Given the description of an element on the screen output the (x, y) to click on. 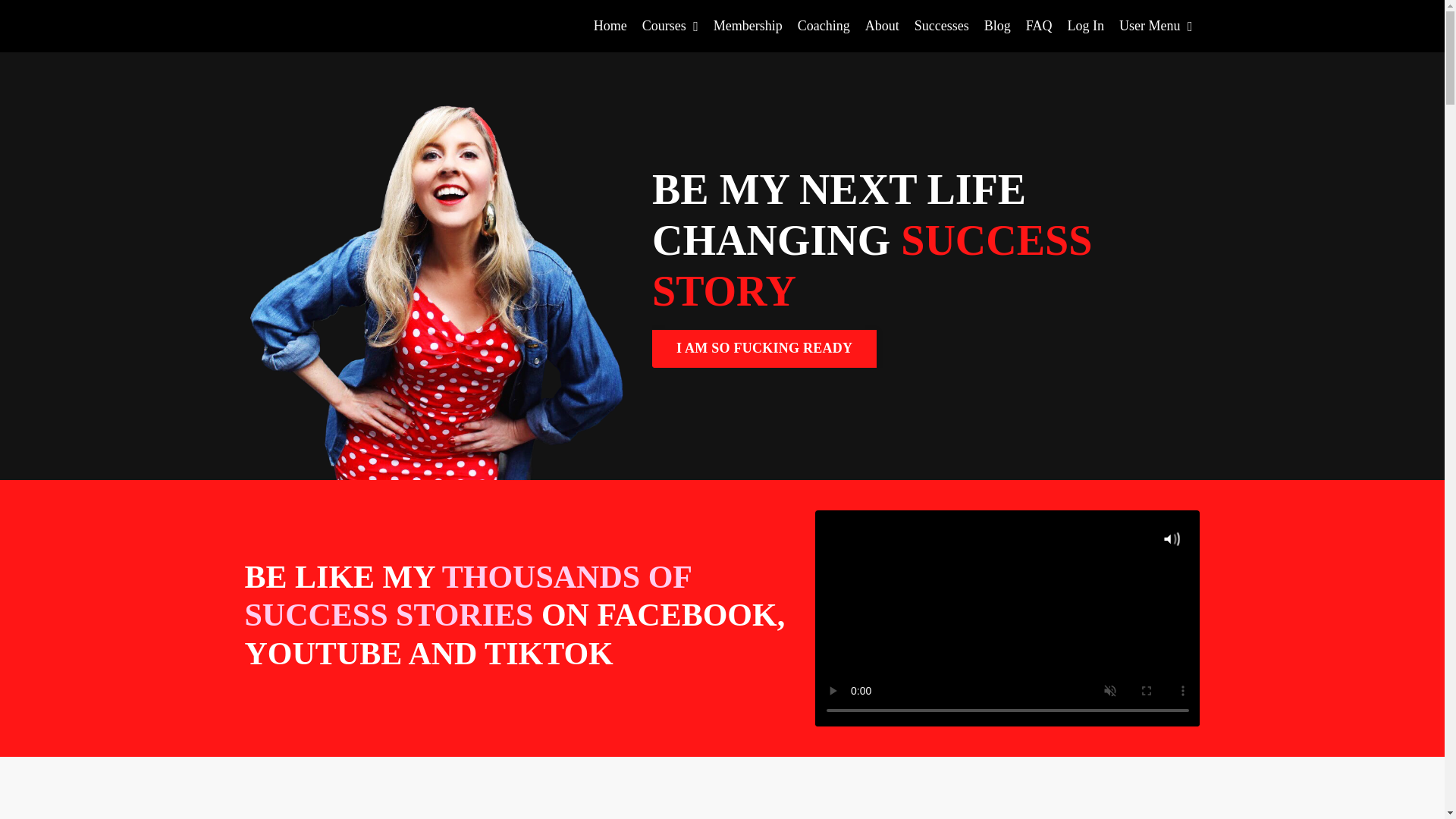
Blog (997, 25)
Coaching (823, 25)
FAQ (1039, 25)
Home (610, 25)
Log In (1085, 25)
I AM SO FUCKING READY (764, 348)
Successes (941, 25)
About (881, 25)
Courses (670, 25)
User Menu (1155, 25)
Membership (748, 25)
